Given the description of an element on the screen output the (x, y) to click on. 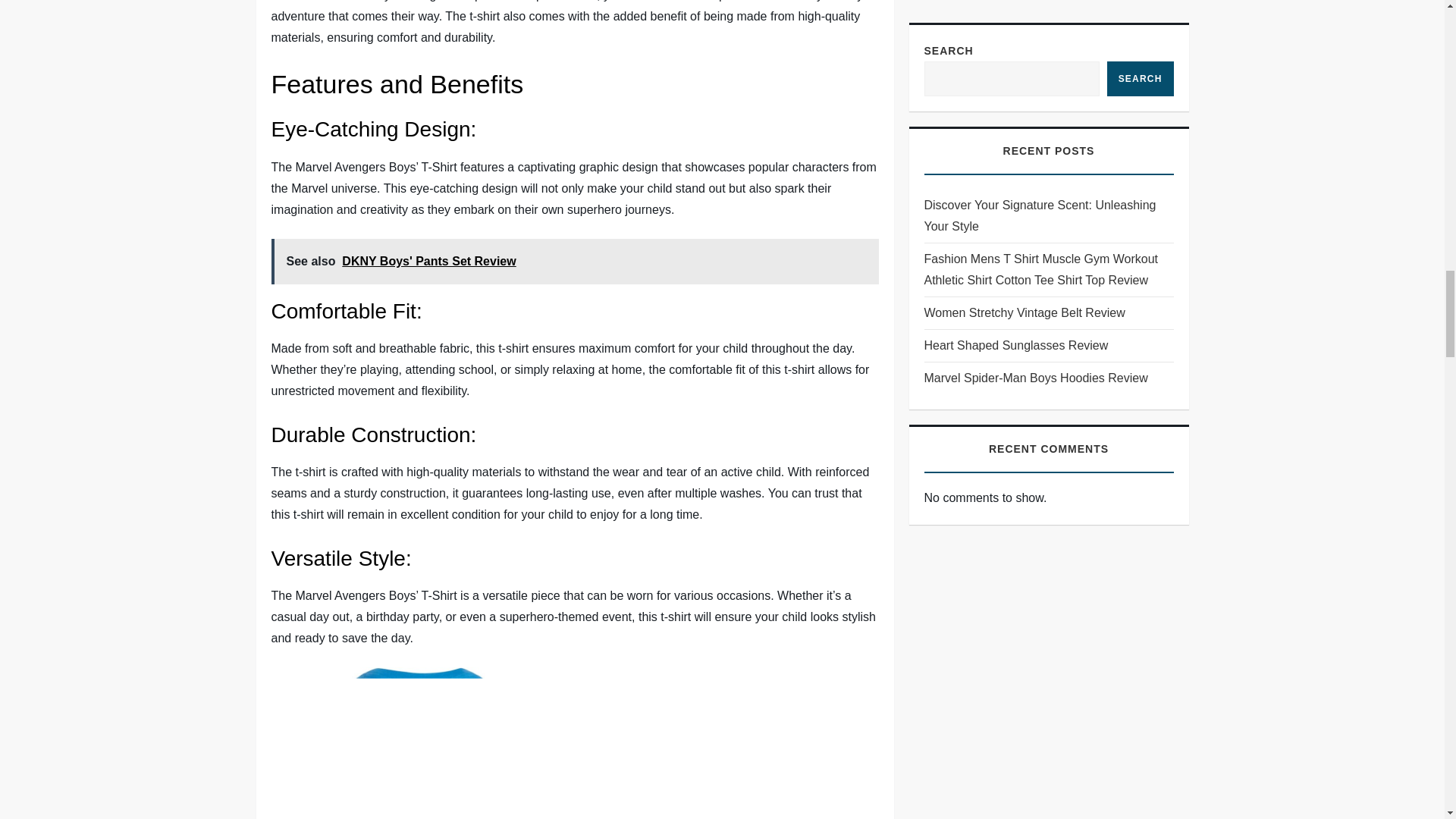
See also  DKNY Boys' Pants Set Review (574, 261)
